Given the description of an element on the screen output the (x, y) to click on. 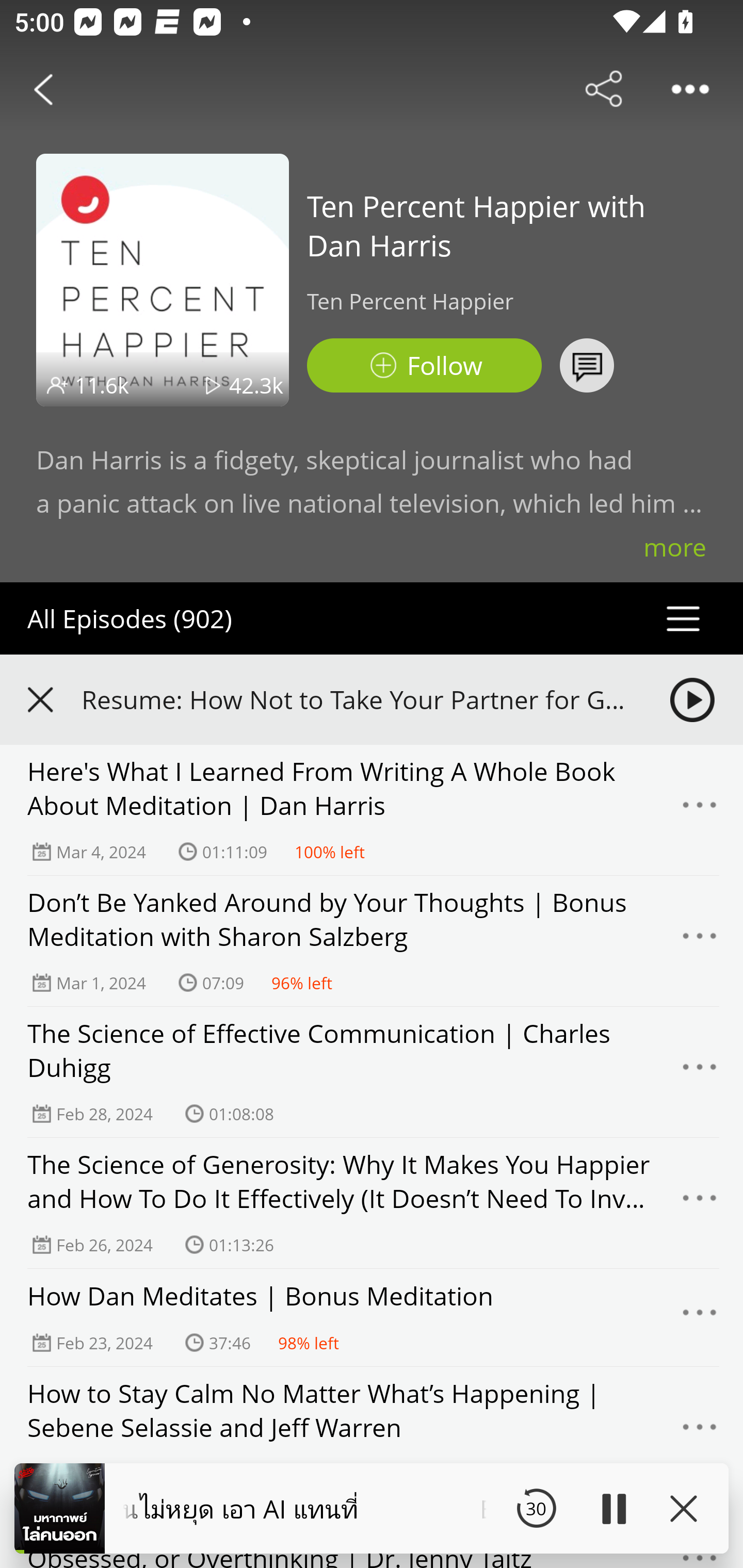
Back (43, 88)
Podbean Follow (423, 365)
11.6k (102, 384)
more (674, 546)
Menu (699, 809)
Menu (699, 941)
Menu (699, 1072)
Menu (699, 1203)
Menu (699, 1317)
Menu (699, 1432)
Play (613, 1507)
30 Seek Backward (536, 1508)
